Given the description of an element on the screen output the (x, y) to click on. 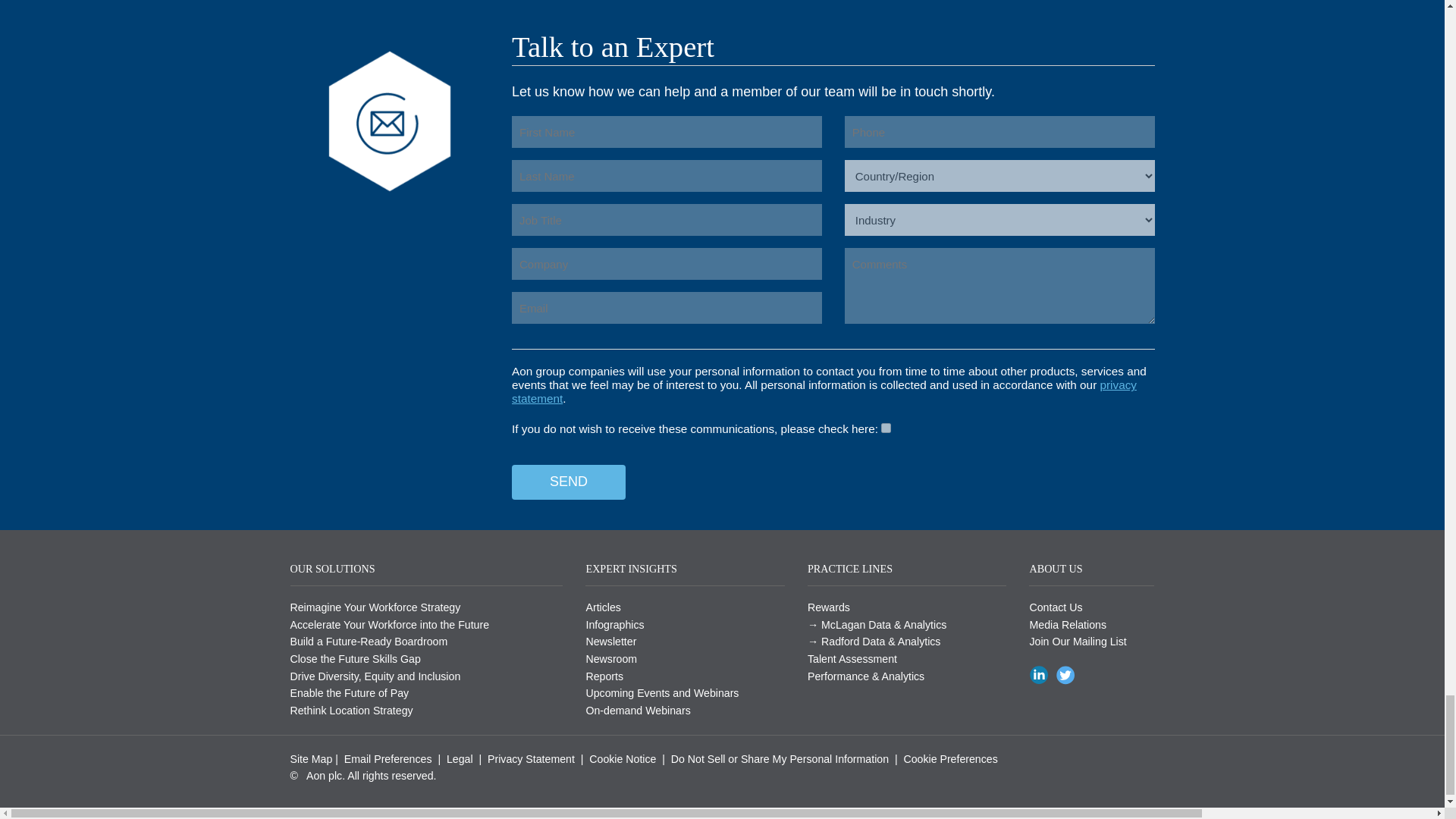
0 (885, 428)
Follow us on Twitter (1066, 674)
Follow us on LinkedIn (1040, 674)
SEND (569, 482)
